Given the description of an element on the screen output the (x, y) to click on. 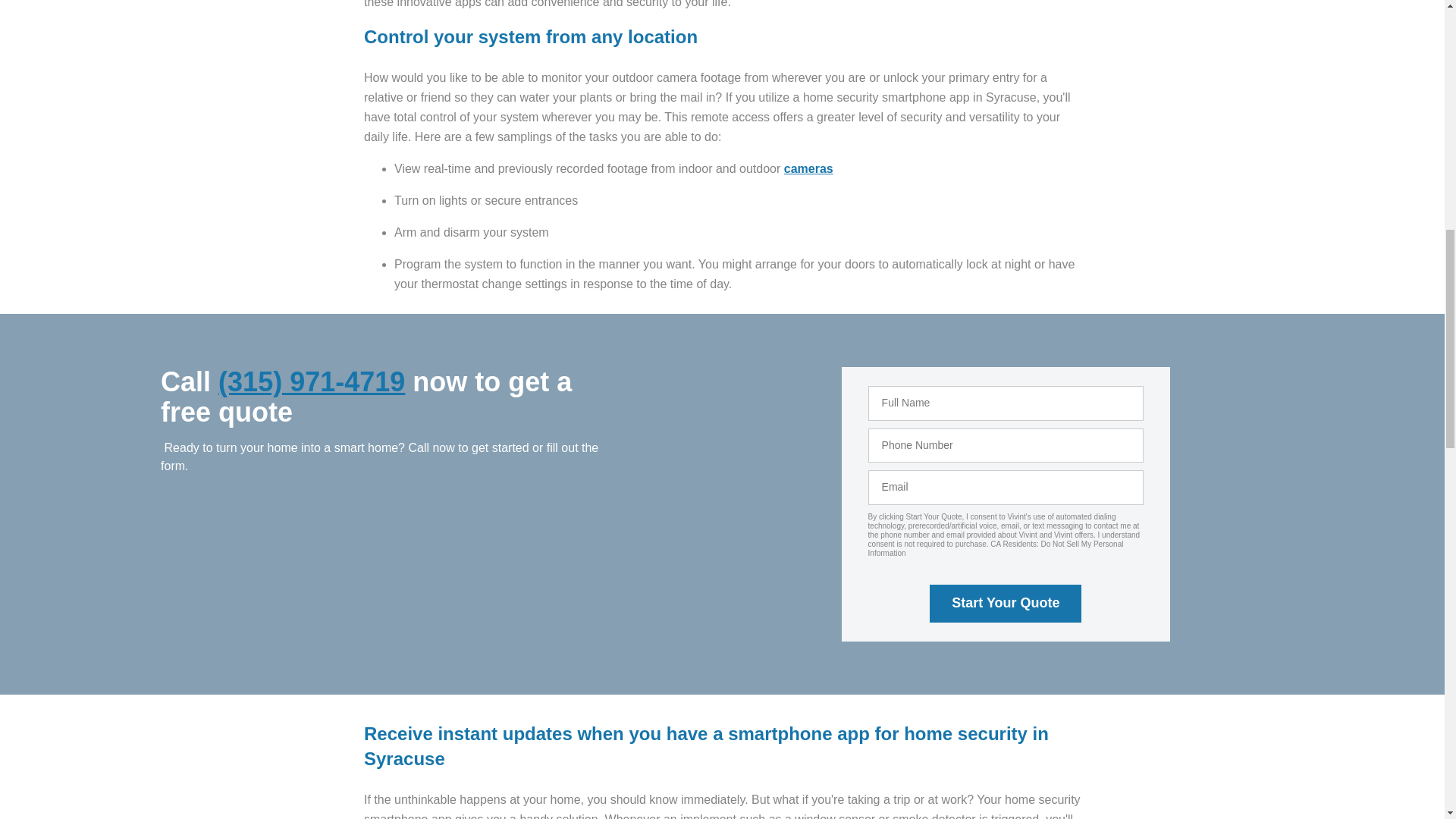
Start Your Quote (1005, 603)
Start Your Quote (1005, 603)
Cameras in Syracuse (808, 168)
cameras (808, 168)
